Given the description of an element on the screen output the (x, y) to click on. 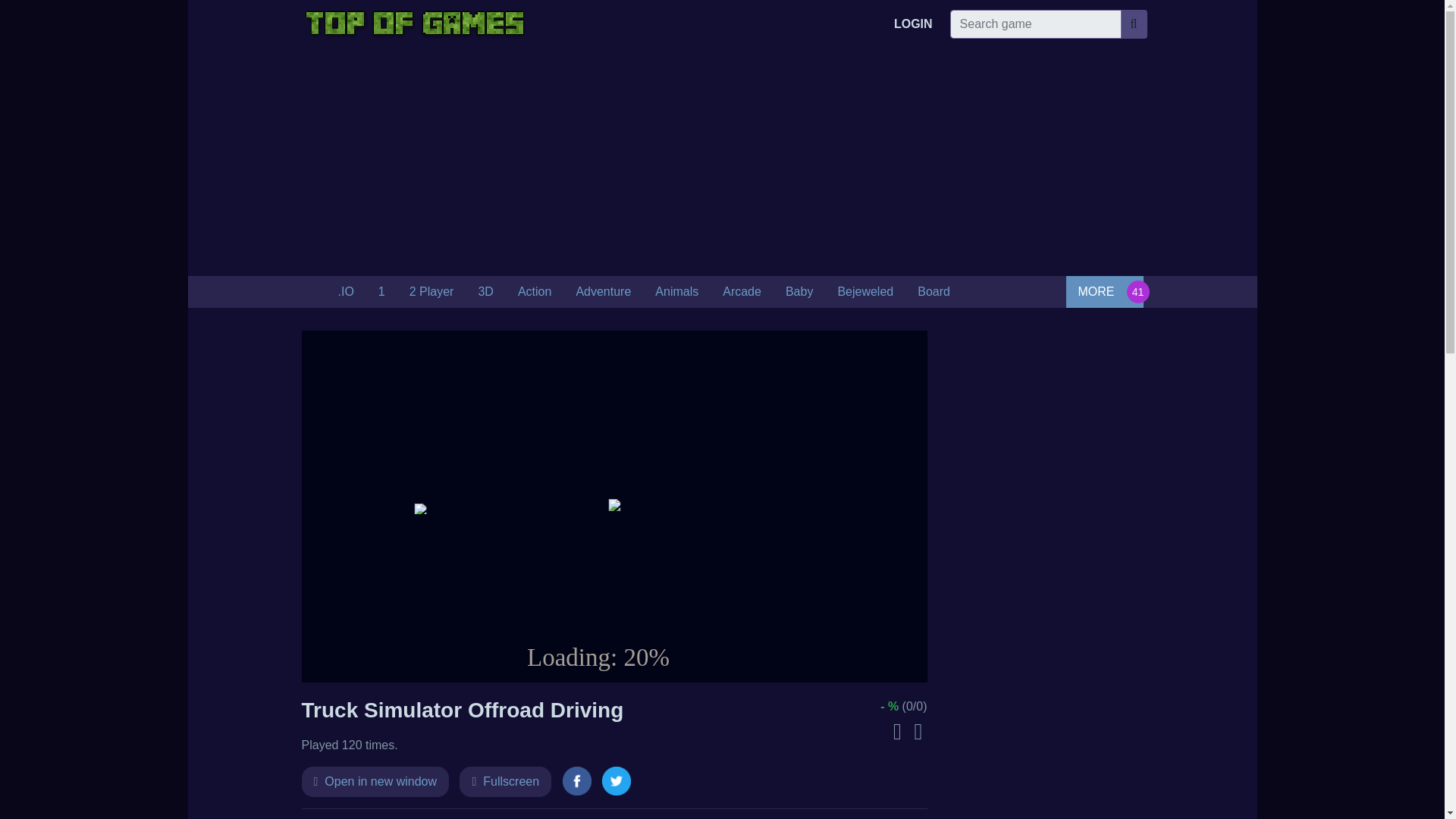
.IO (346, 291)
Baby (799, 291)
Bejeweled (865, 291)
3D (485, 291)
Board (933, 291)
MORE (1103, 291)
Arcade (741, 291)
Action (534, 291)
Animals (676, 291)
1 (381, 291)
2 Player (431, 291)
Adventure (603, 291)
LOGIN (913, 24)
